Given the description of an element on the screen output the (x, y) to click on. 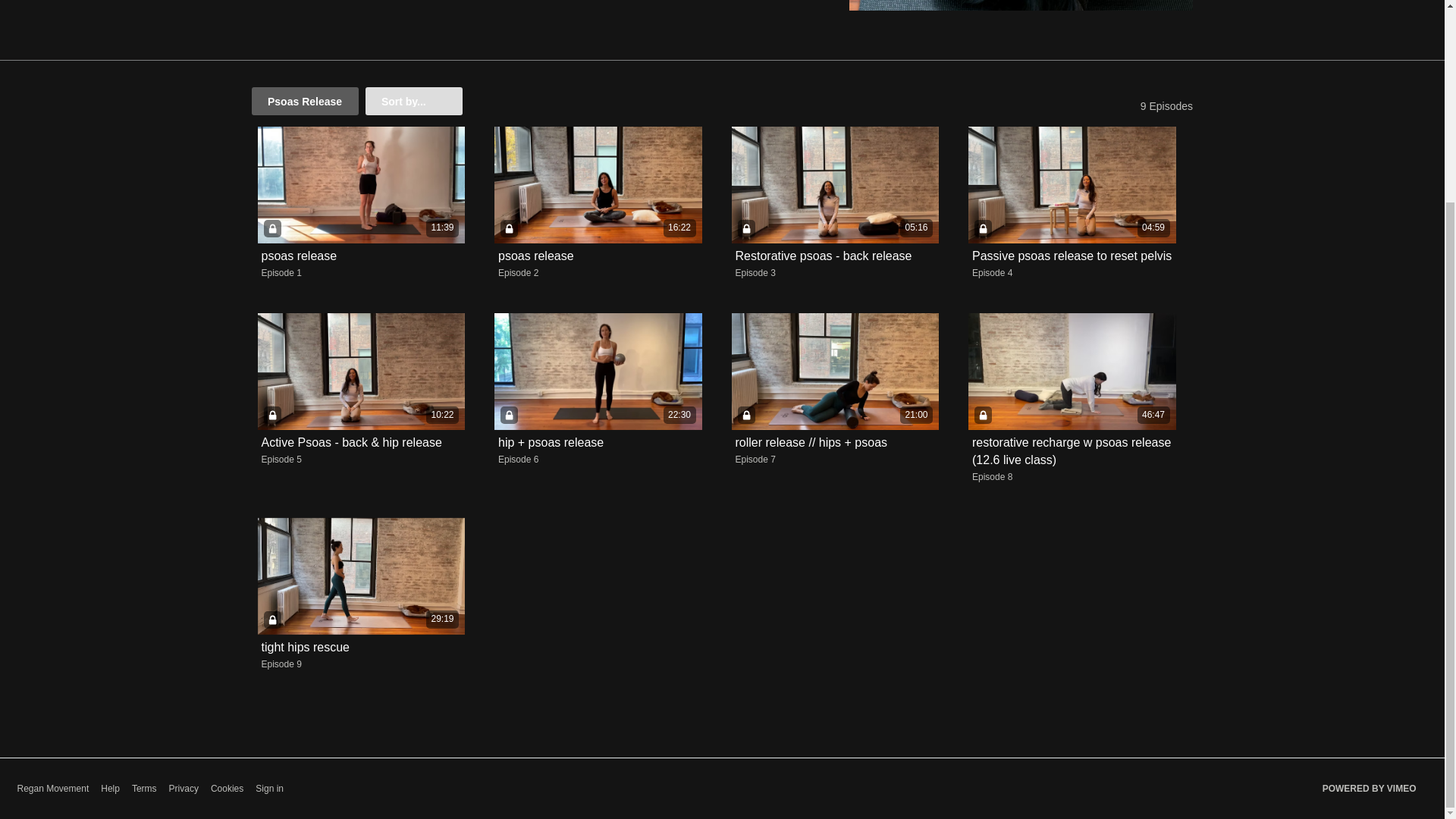
46:47 (1072, 370)
Restorative psoas - back release (823, 256)
psoas release (298, 255)
04:59 (1072, 184)
Passive psoas release to reset pelvis (1072, 255)
Privacy (183, 788)
29:19 (361, 575)
05:16 (834, 184)
tight hips rescue (304, 647)
Restorative psoas - back release (823, 255)
Passive psoas release to reset pelvis (1072, 256)
22:30 (598, 370)
10:22 (361, 370)
21:00 (834, 370)
Sign in (269, 788)
